Given the description of an element on the screen output the (x, y) to click on. 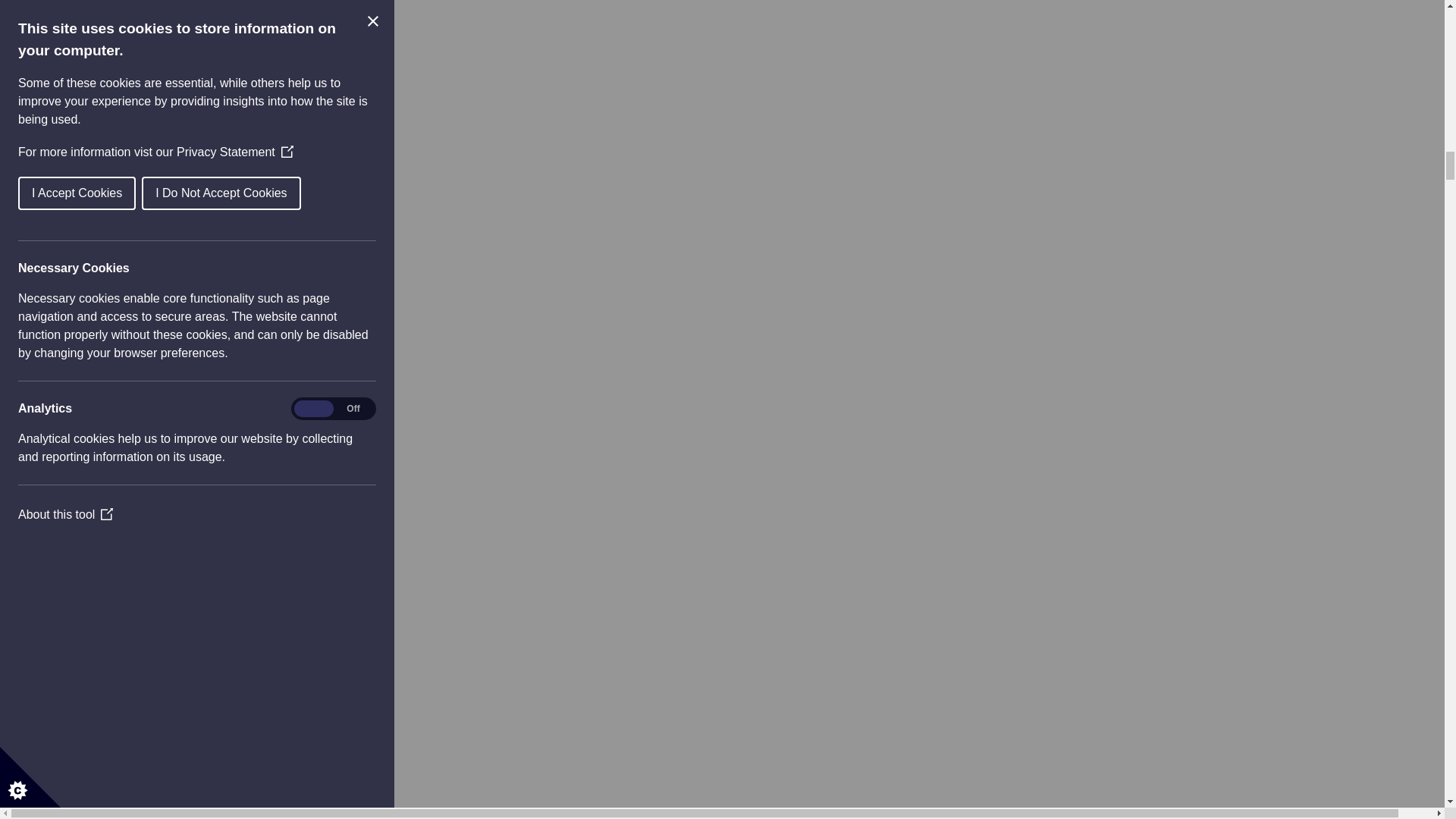
01 (92, 521)
